Given the description of an element on the screen output the (x, y) to click on. 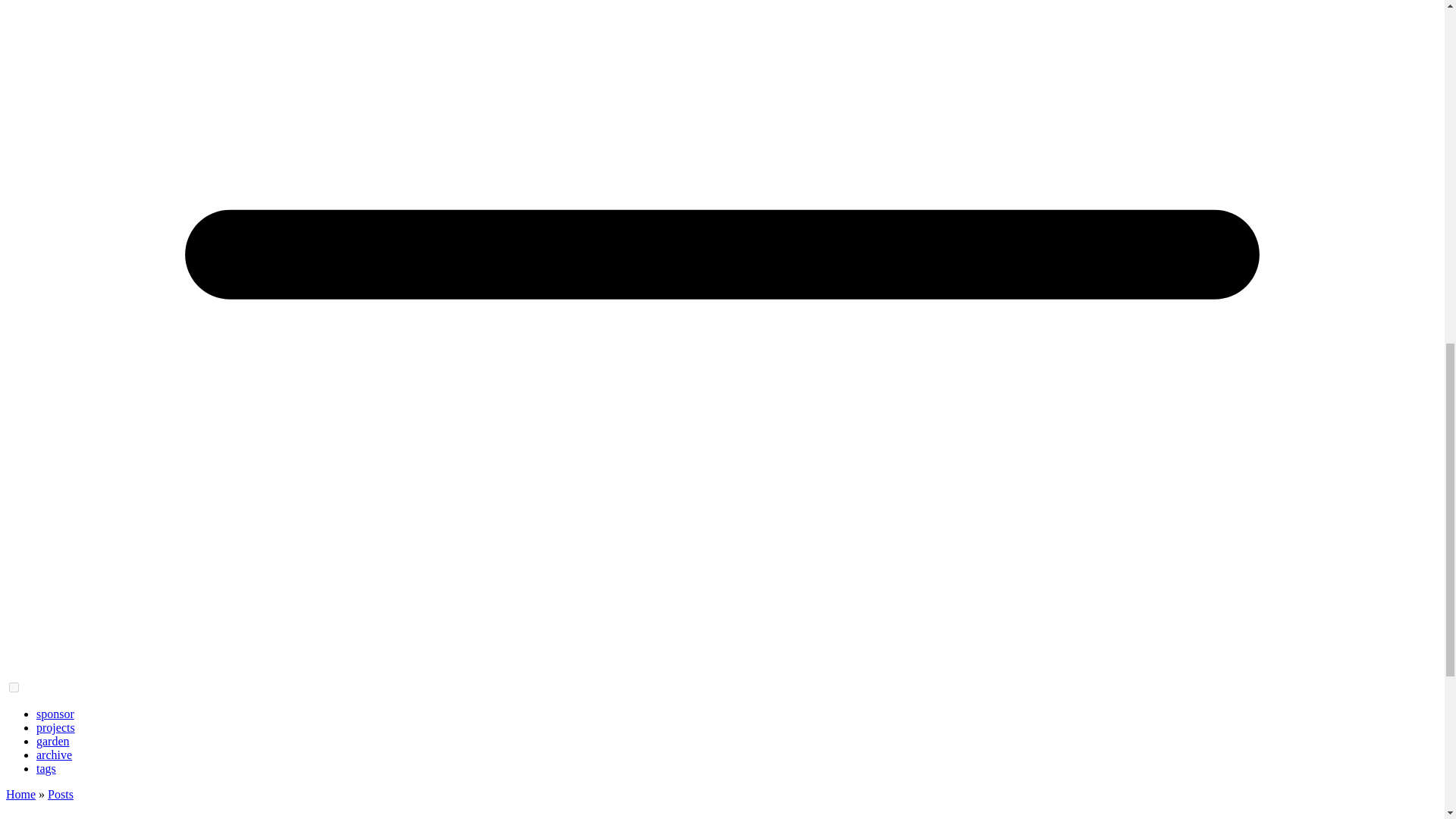
sponsor (55, 713)
on (13, 687)
garden (52, 740)
tags (46, 768)
tags (46, 768)
garden (52, 740)
projects (55, 727)
Home (19, 793)
archive (53, 754)
archive (53, 754)
projects (55, 727)
Posts (61, 793)
sponsor (55, 713)
